Given the description of an element on the screen output the (x, y) to click on. 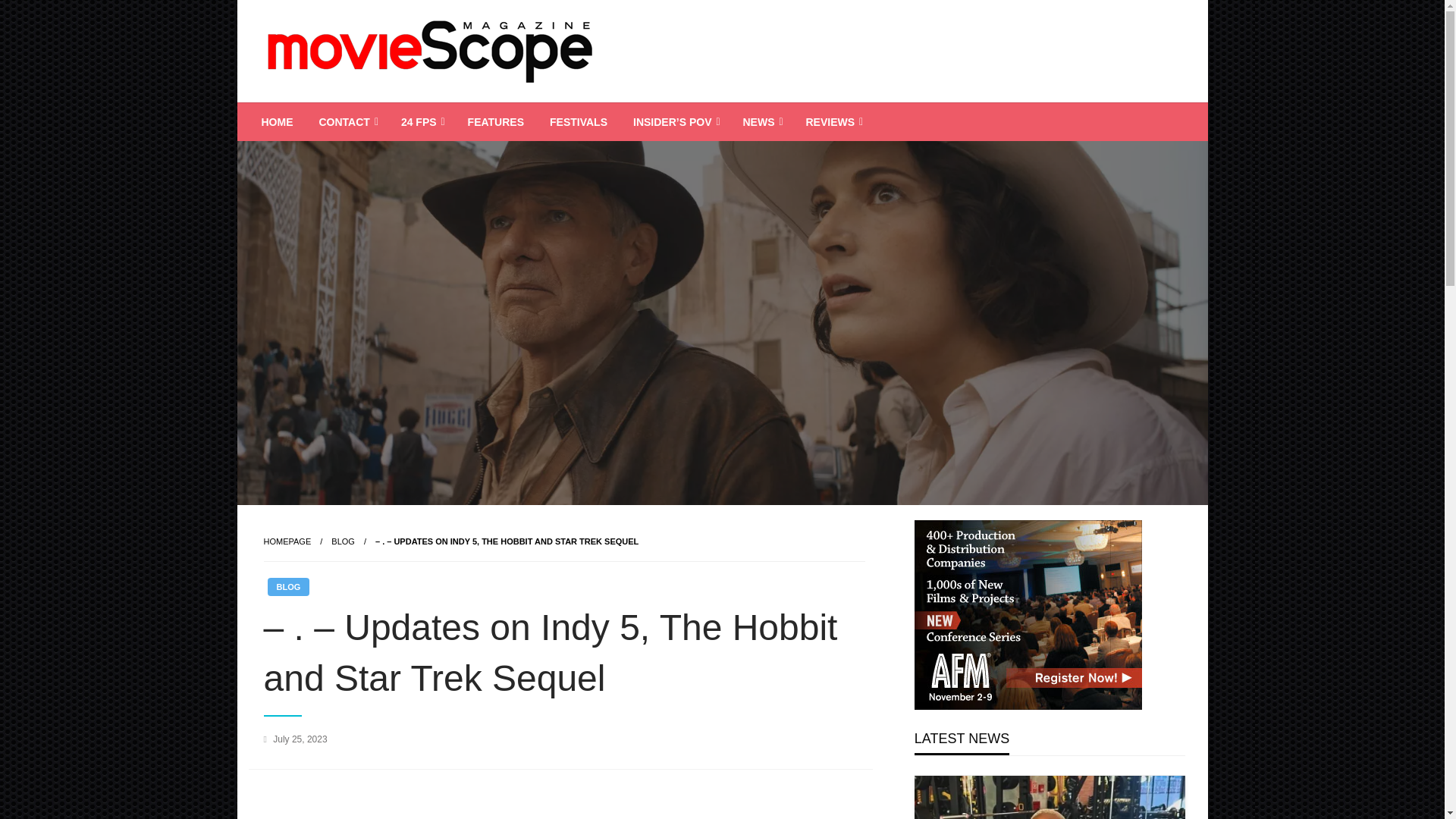
HOME (276, 121)
HOMEPAGE (287, 541)
FESTIVALS (578, 121)
BLOG (343, 541)
REVIEWS (832, 121)
CONTACT (346, 121)
Jojo Todynho: A Dynamic Force in Brazilian Entertainment 5 (1054, 797)
FEATURES (495, 121)
BLOG (287, 587)
